Given the description of an element on the screen output the (x, y) to click on. 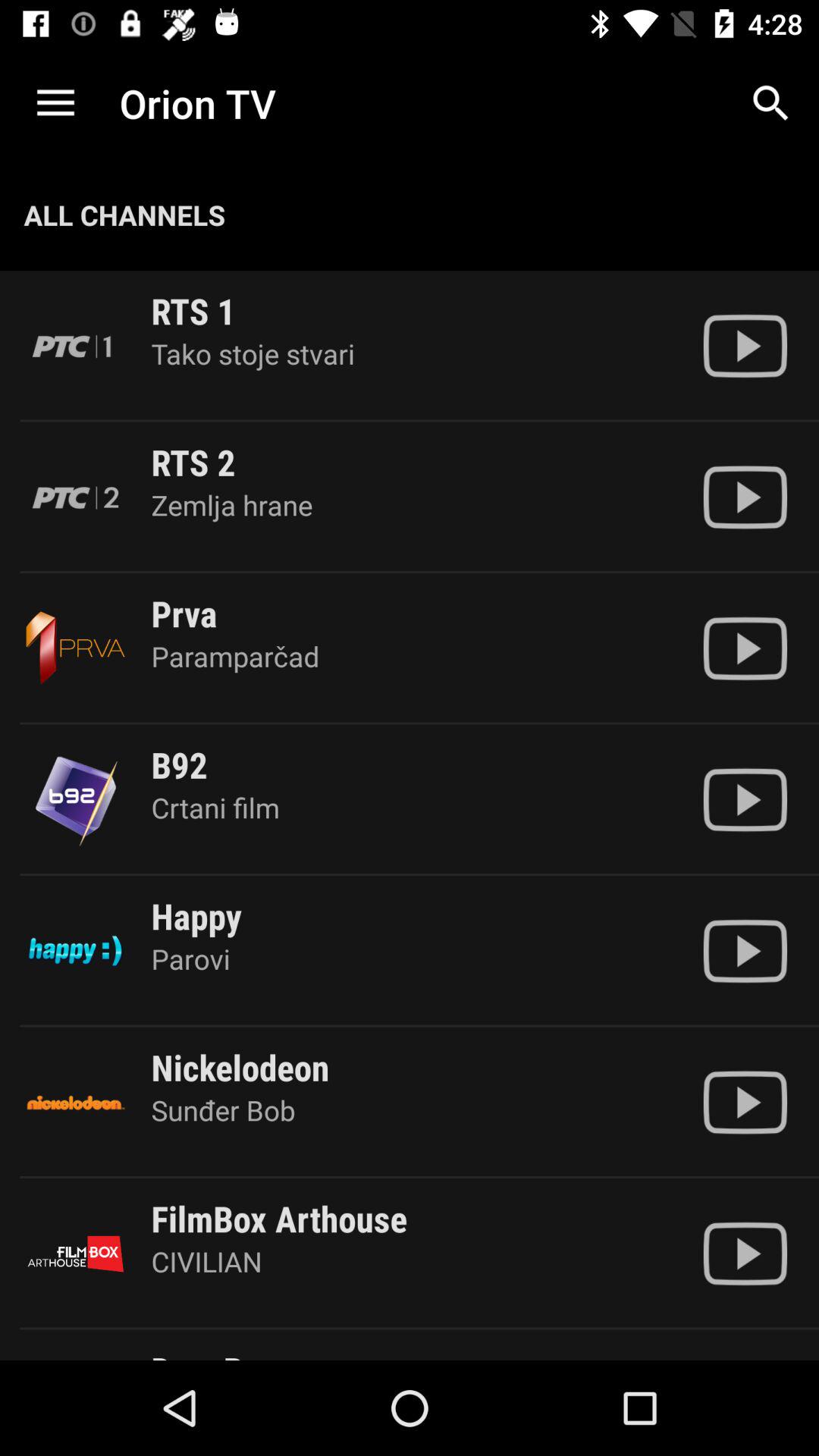
plays the channel (745, 497)
